Given the description of an element on the screen output the (x, y) to click on. 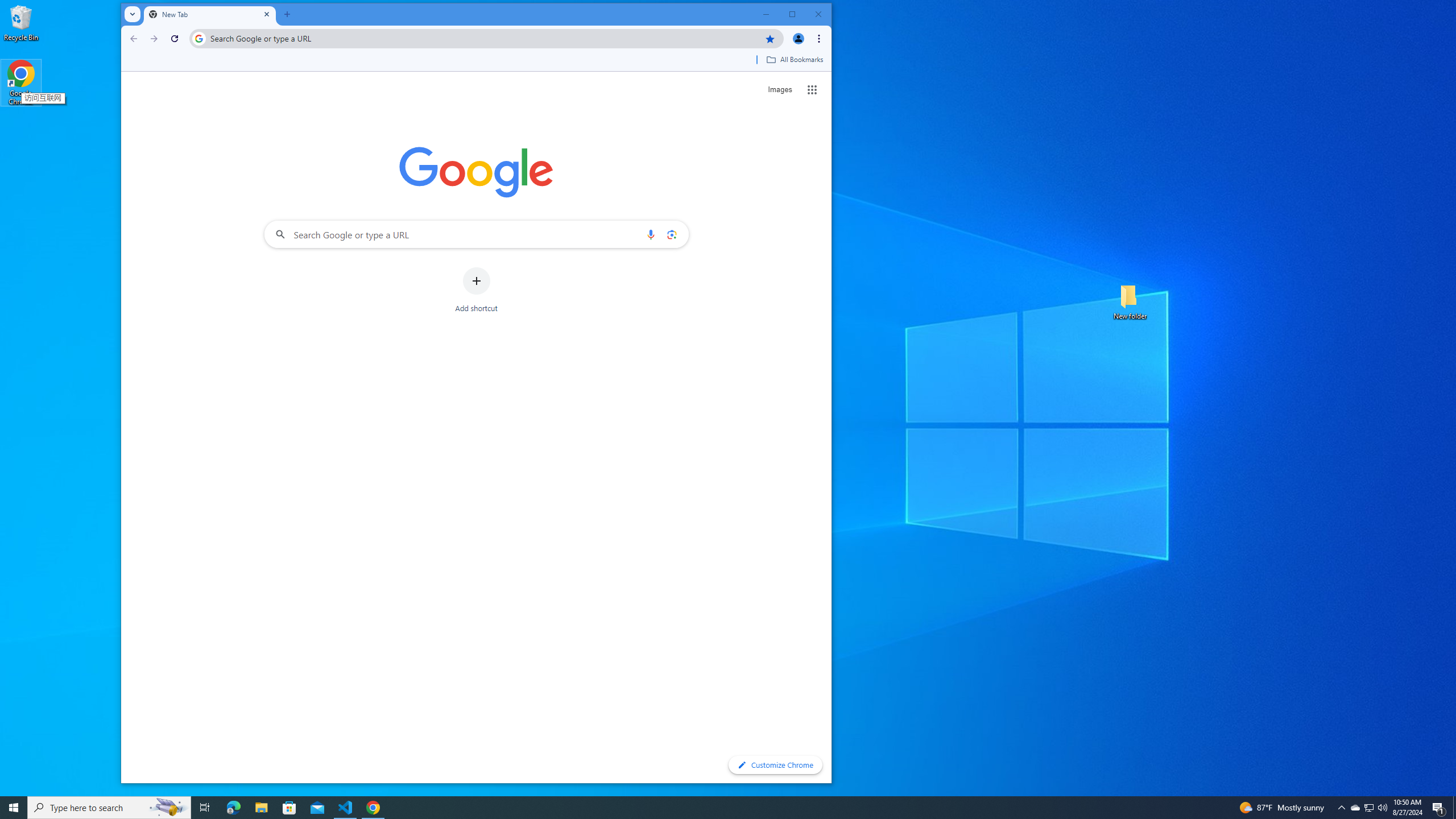
Recycle Bin (21, 22)
Google Chrome (21, 82)
New folder (1130, 301)
